Given the description of an element on the screen output the (x, y) to click on. 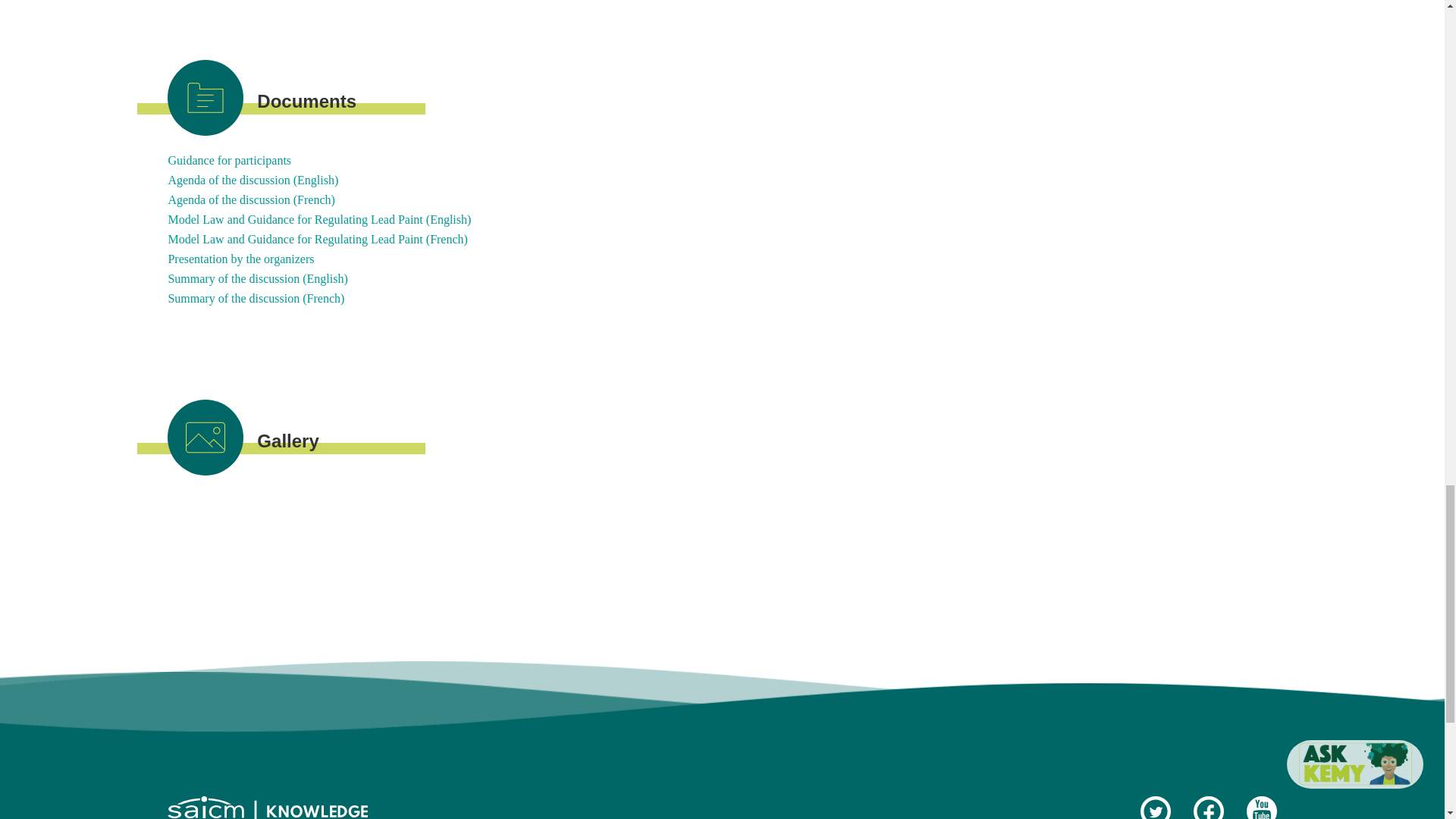
Home (267, 810)
